Given the description of an element on the screen output the (x, y) to click on. 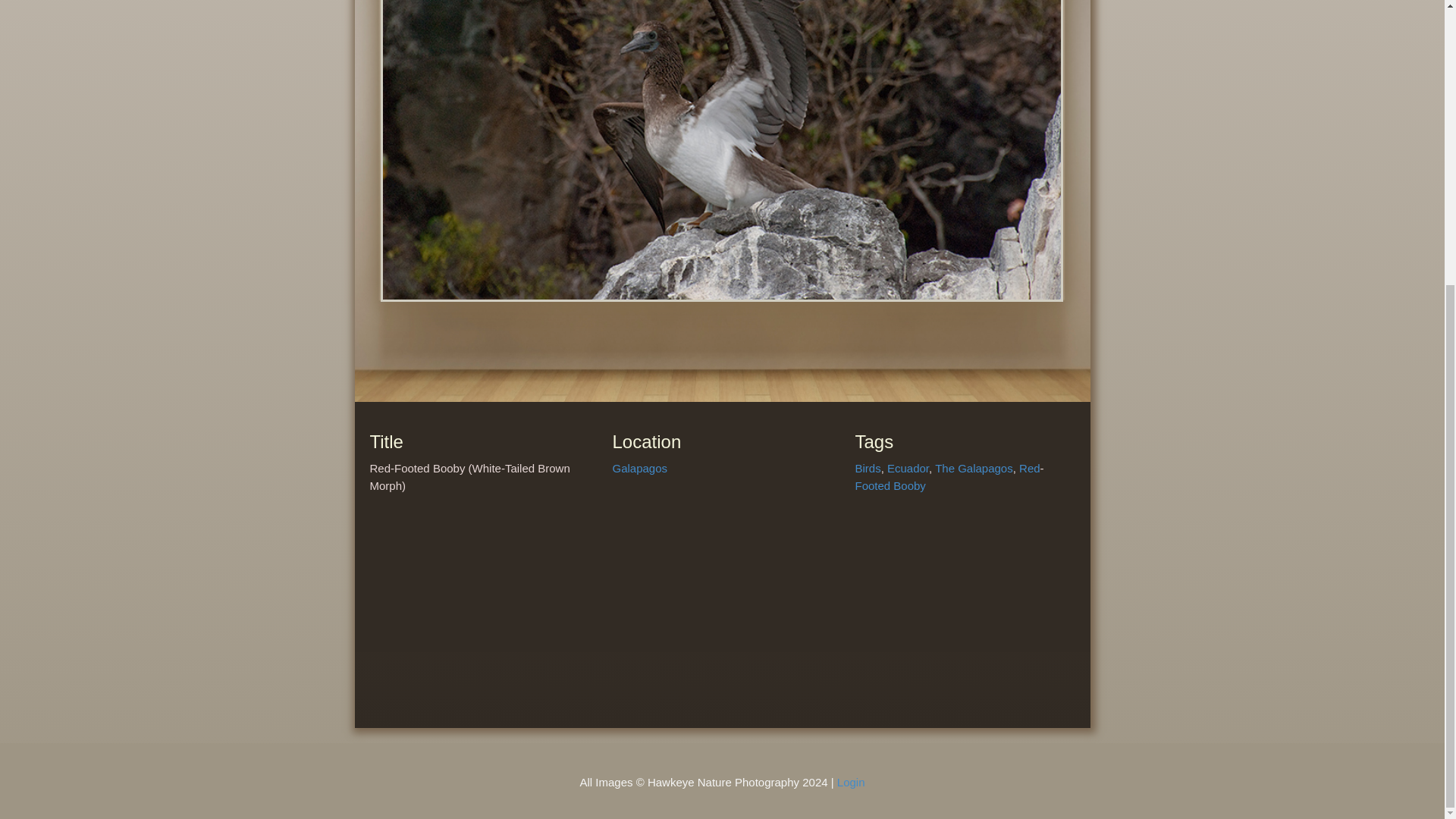
Login (850, 781)
Red (1030, 468)
Ecuador (907, 468)
Birds (867, 468)
Footed Booby (889, 485)
Galapagos (638, 468)
The Galapagos (973, 468)
